Given the description of an element on the screen output the (x, y) to click on. 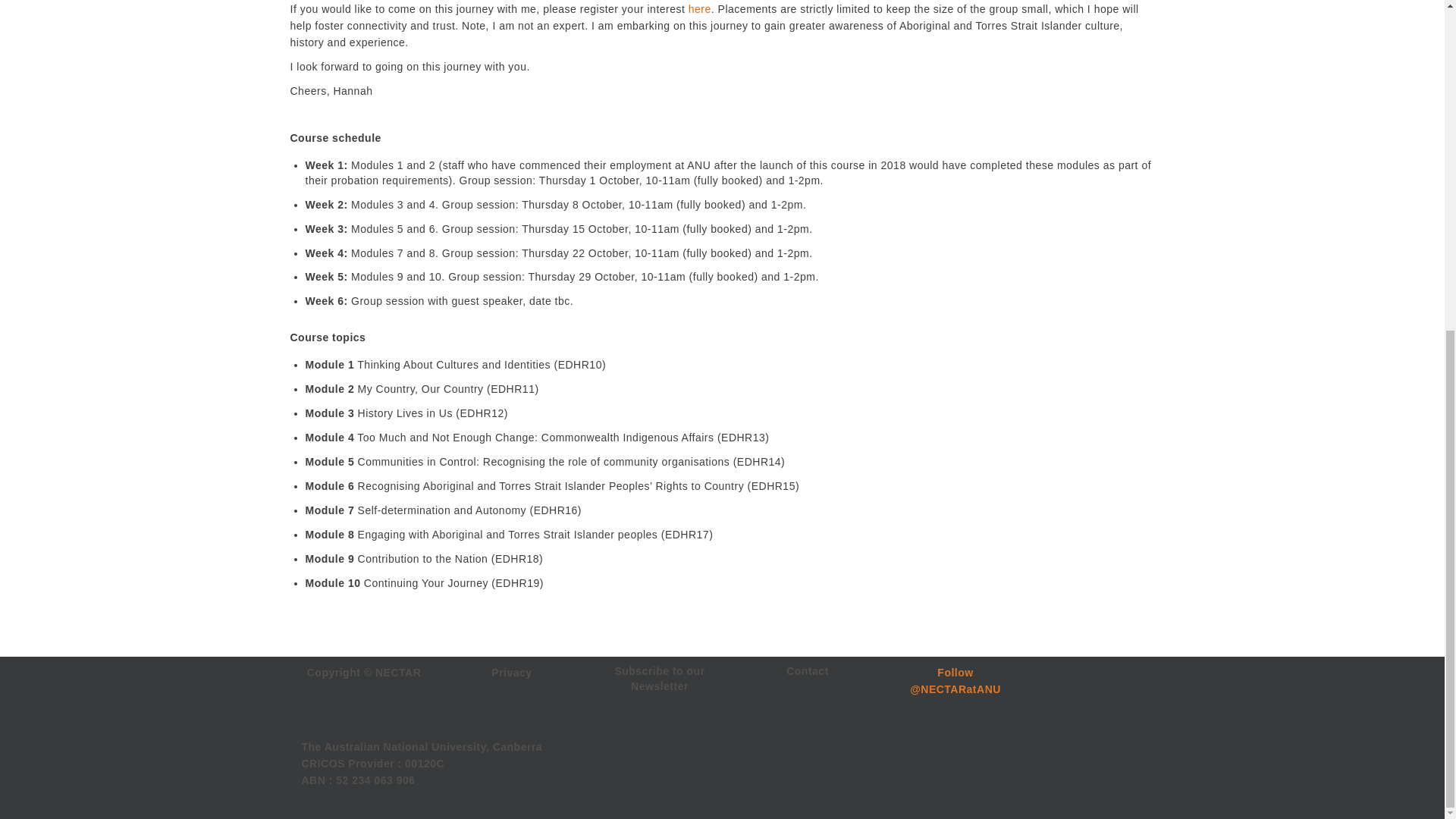
Contact (807, 671)
Privacy (511, 672)
Subscribe to our Newsletter (659, 678)
here (699, 9)
